Given the description of an element on the screen output the (x, y) to click on. 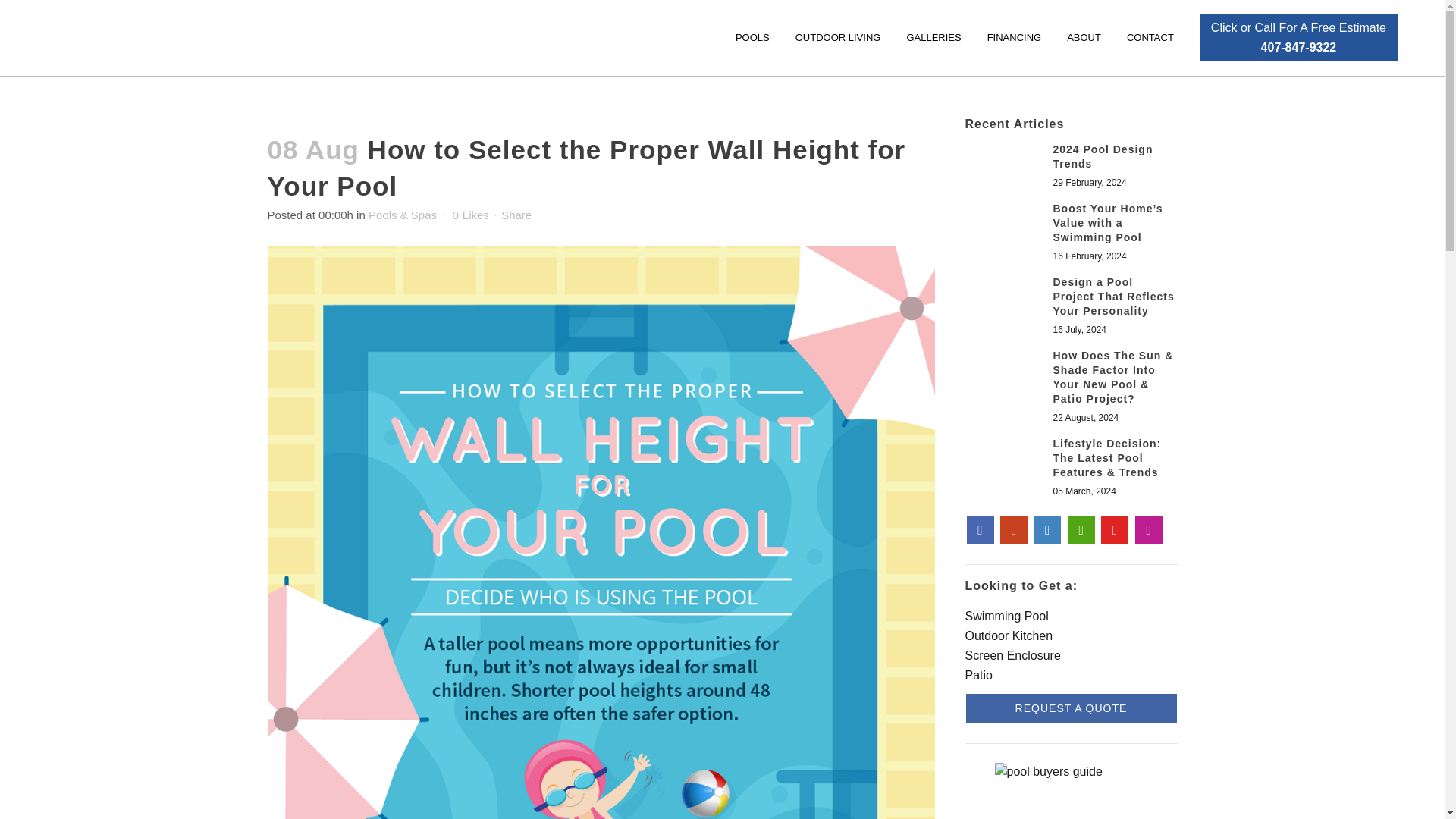
Like this (469, 214)
OUTDOOR LIVING (838, 38)
FINANCING (1014, 38)
GALLERIES (1298, 37)
